Given the description of an element on the screen output the (x, y) to click on. 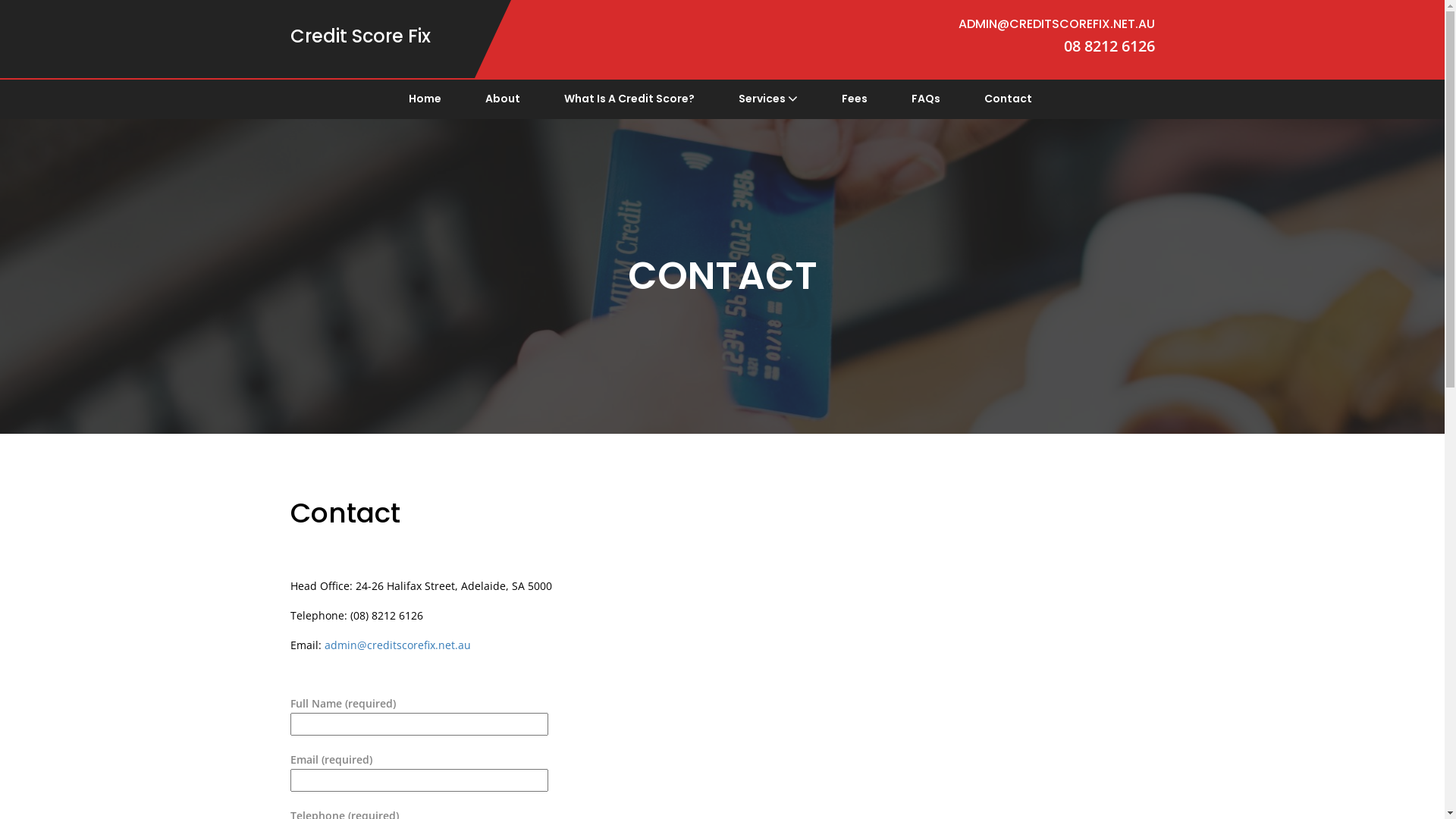
Fees Element type: text (854, 99)
FAQs Element type: text (925, 99)
Contact Element type: text (1008, 99)
What Is A Credit Score? Element type: text (629, 99)
About Element type: text (502, 99)
Credit Score Fix Element type: text (359, 35)
Services Element type: text (767, 99)
Home Element type: text (423, 99)
admin@creditscorefix.net.au Element type: text (397, 644)
